Given the description of an element on the screen output the (x, y) to click on. 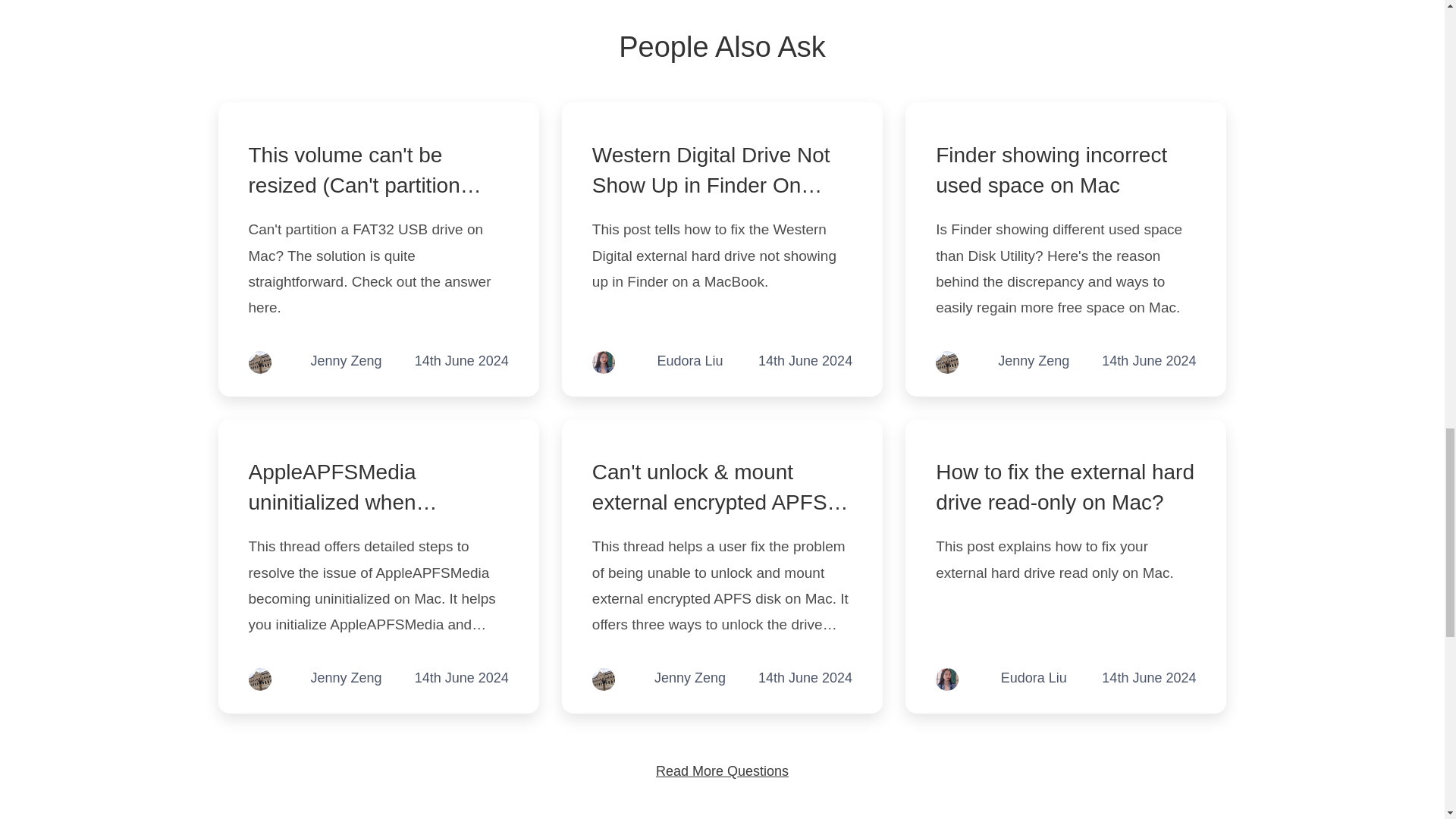
Eudora Liu (1034, 679)
Read More Questions (722, 770)
Eudora Liu (689, 362)
Jenny Zeng (346, 679)
Jenny Zeng (689, 679)
Jenny Zeng (346, 362)
Jenny Zeng (1032, 362)
